Given the description of an element on the screen output the (x, y) to click on. 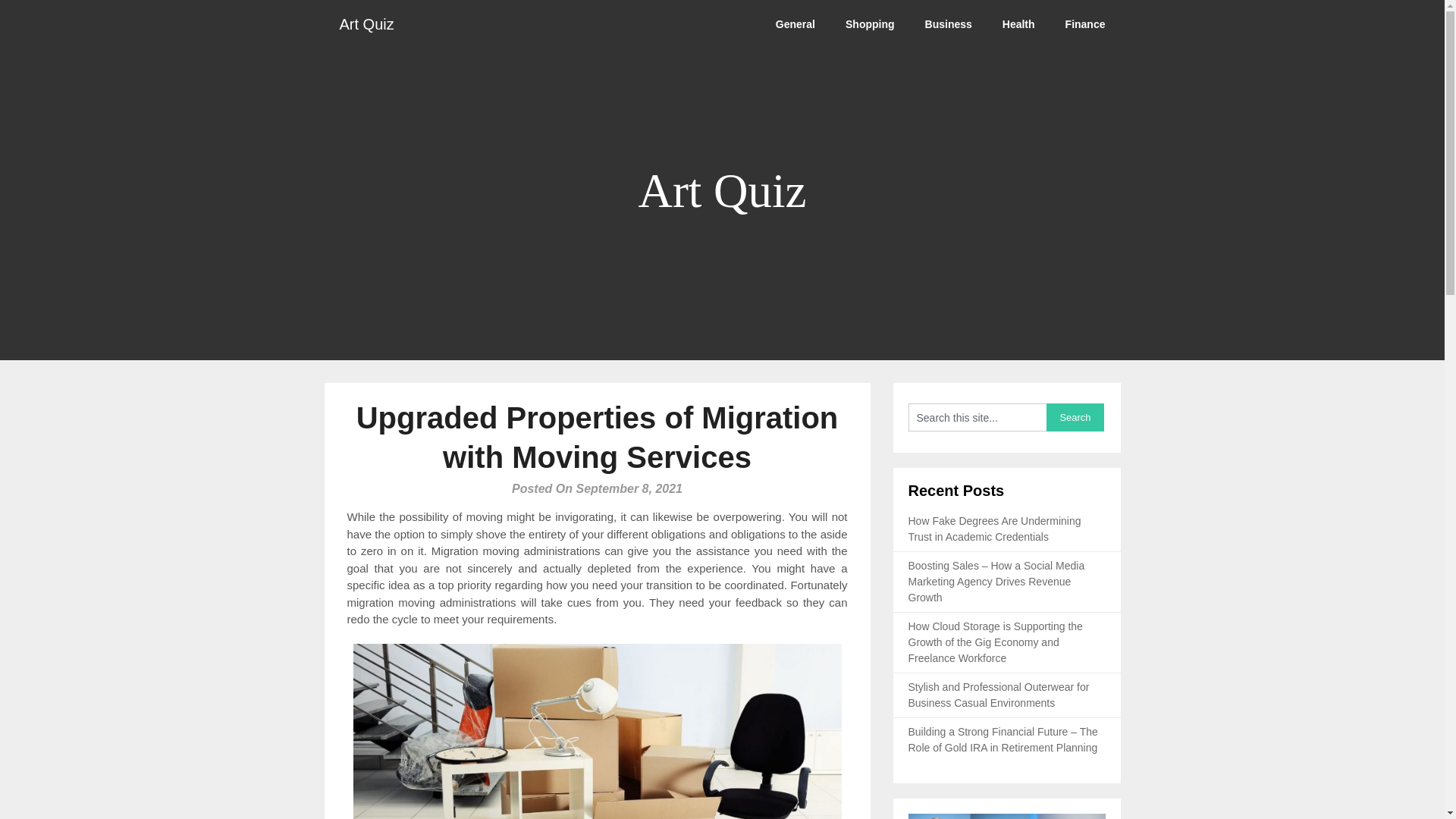
Finance (1085, 24)
Business (948, 24)
Art Quiz (366, 24)
Search this site... (977, 417)
Health (1018, 24)
General (794, 24)
Shopping (869, 24)
Search (1075, 417)
